Given the description of an element on the screen output the (x, y) to click on. 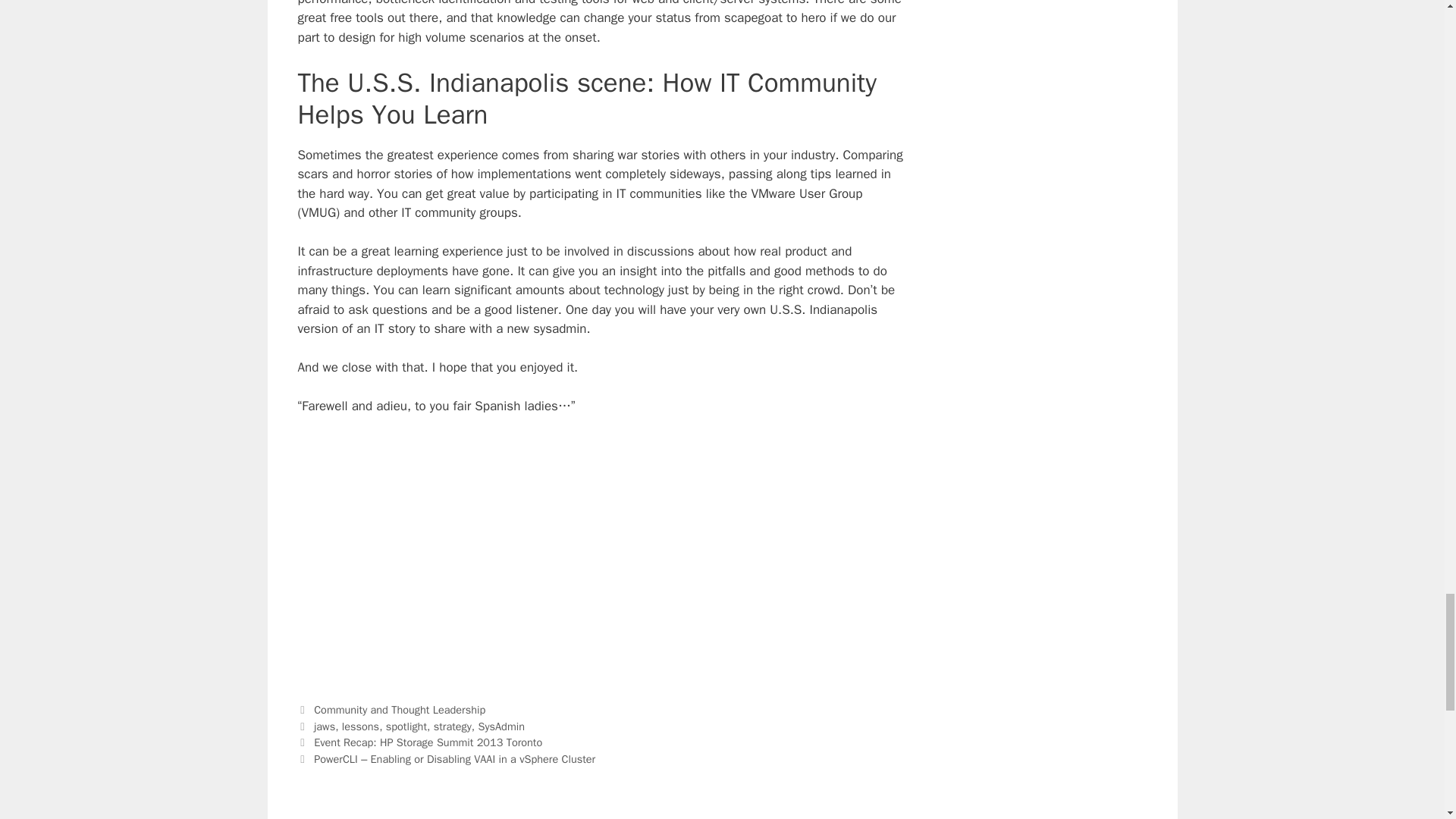
Event Recap: HP Storage Summit 2013 Toronto (427, 742)
strategy (452, 726)
SysAdmin (501, 726)
spotlight (405, 726)
Community and Thought Leadership (399, 709)
jaws (324, 726)
lessons (360, 726)
